Given the description of an element on the screen output the (x, y) to click on. 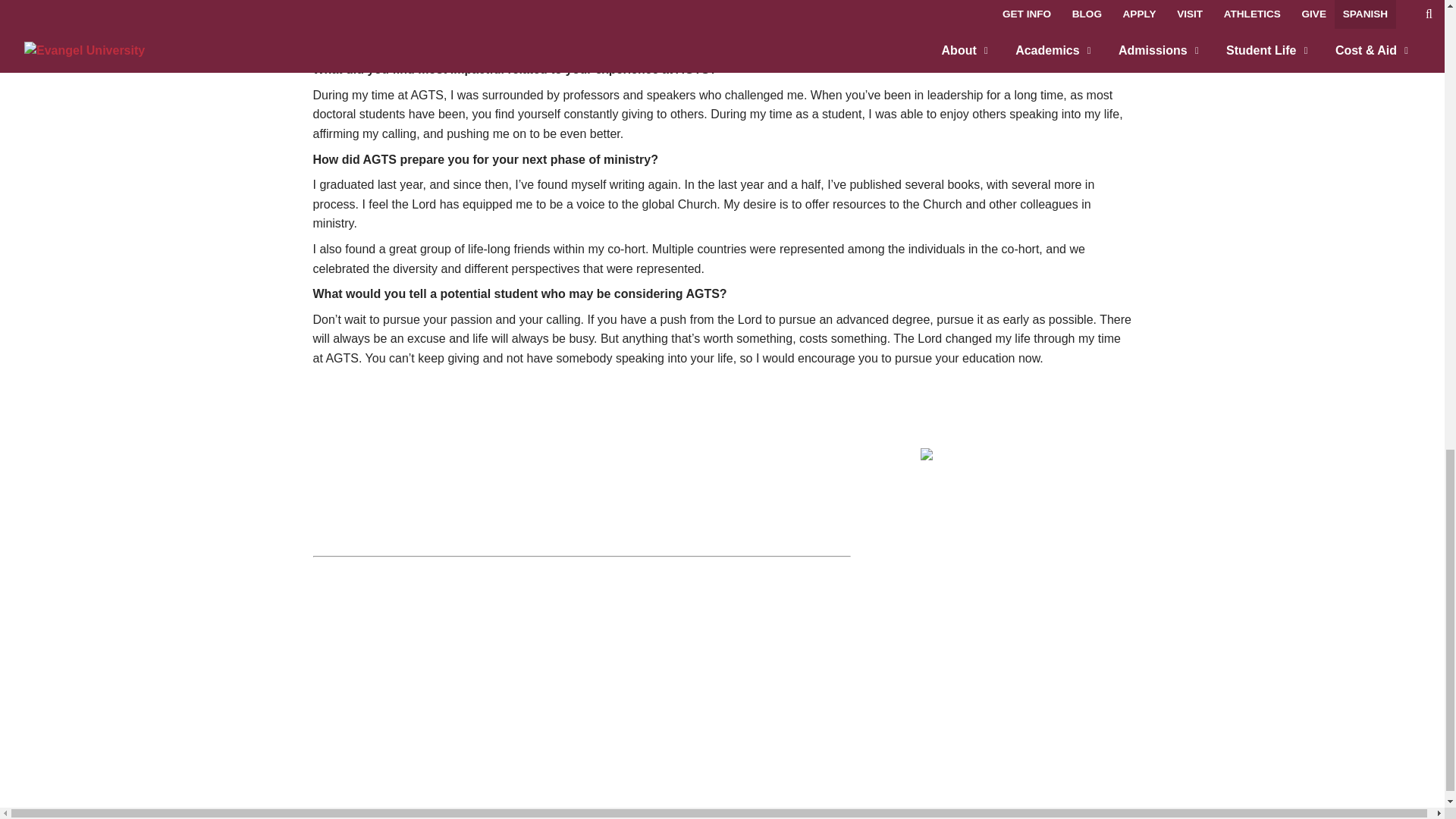
Home (997, 456)
